Given the description of an element on the screen output the (x, y) to click on. 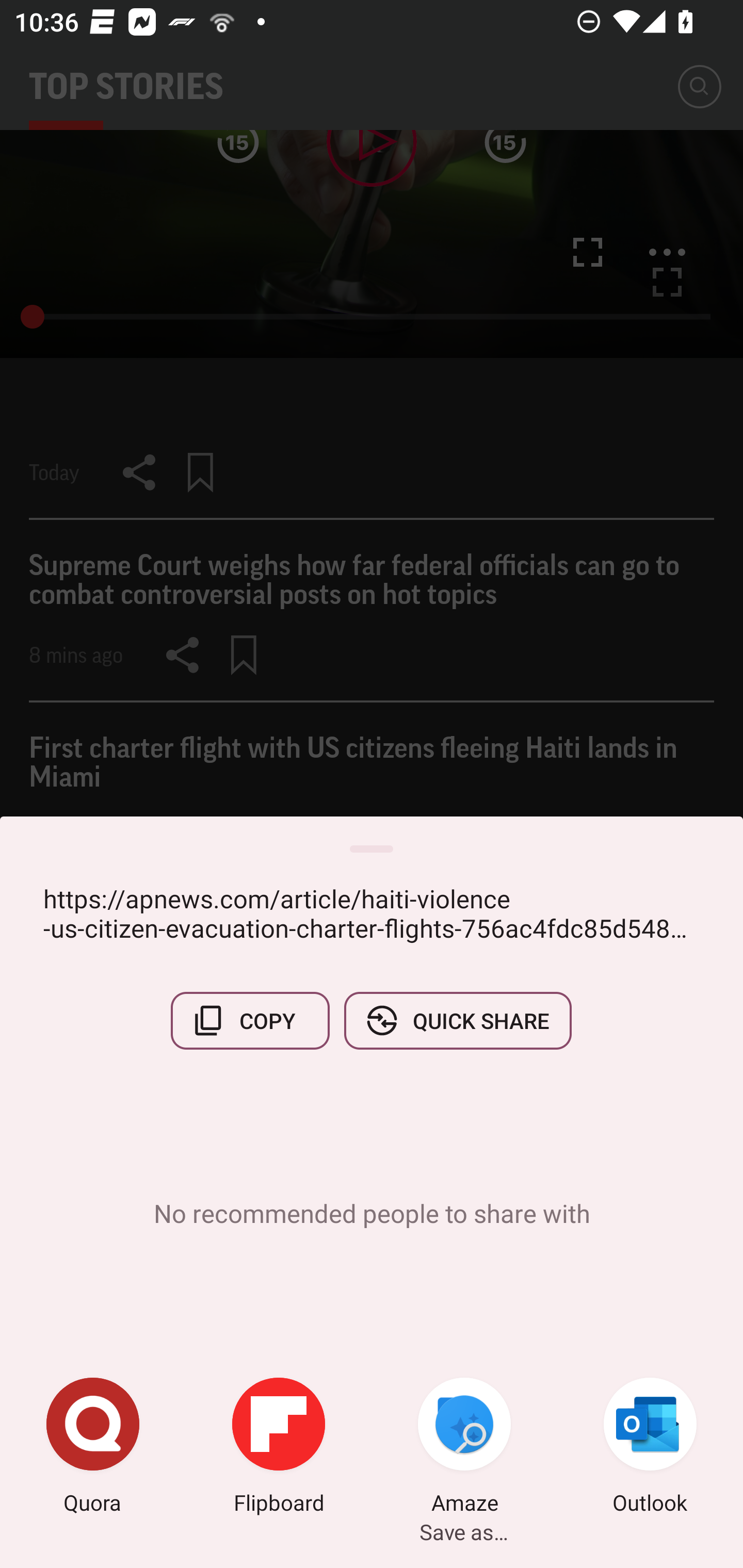
COPY (249, 1020)
QUICK SHARE (457, 1020)
Quora (92, 1448)
Flipboard (278, 1448)
Amaze Save as… (464, 1448)
Outlook (650, 1448)
